Given the description of an element on the screen output the (x, y) to click on. 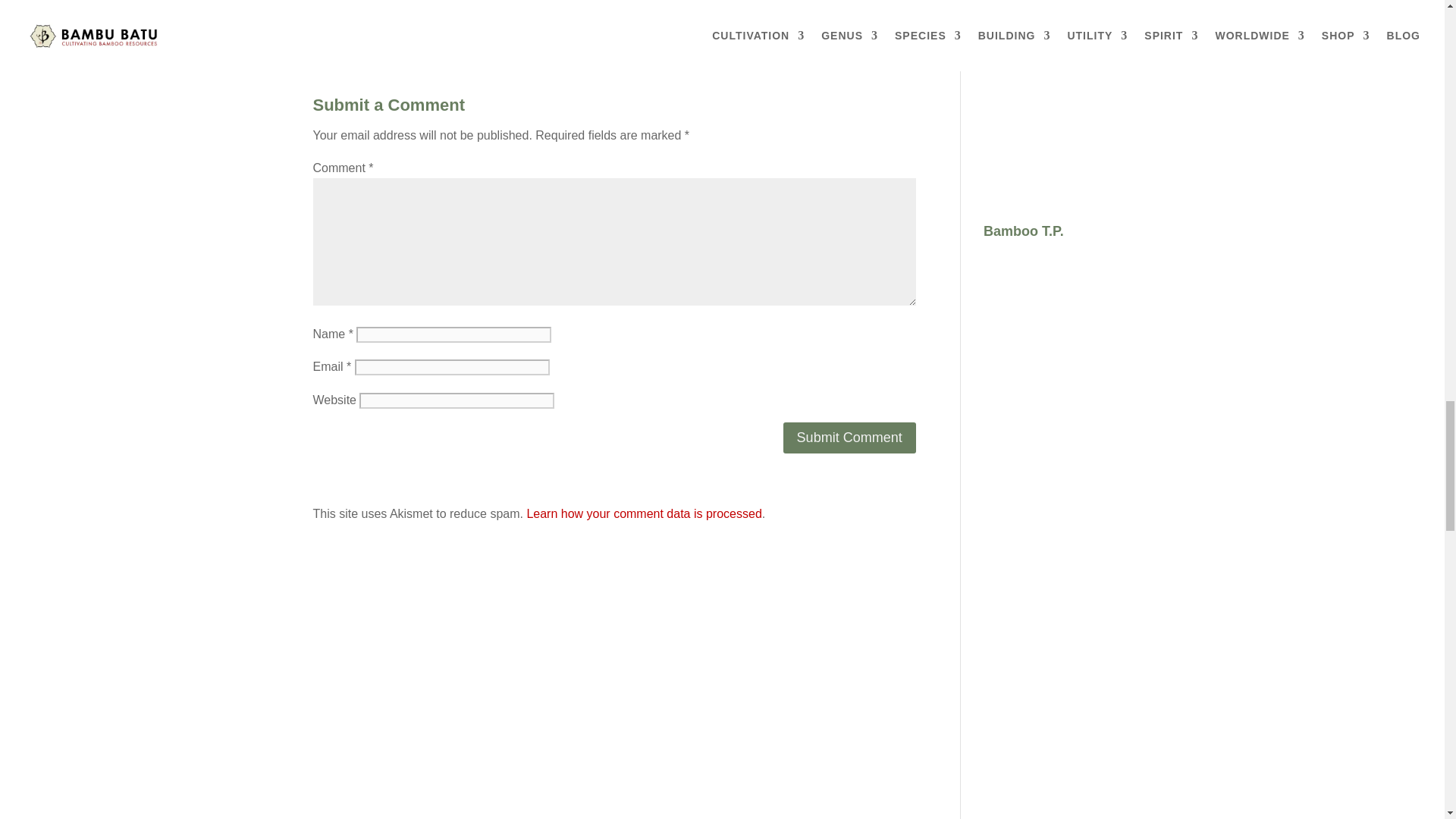
Submit Comment (849, 437)
Bamboo TP (1057, 367)
